Given the description of an element on the screen output the (x, y) to click on. 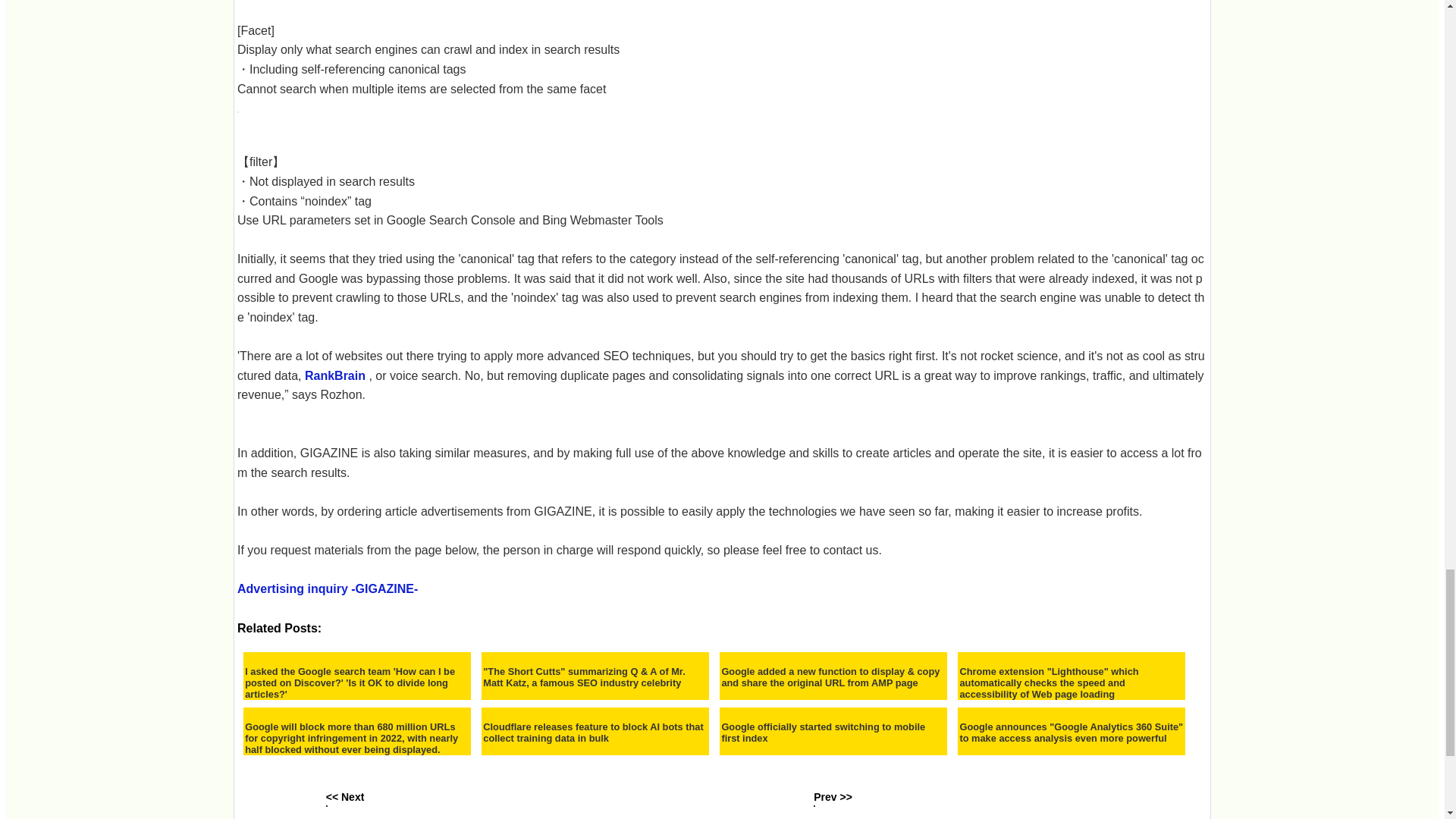
RankBrain (334, 375)
Advertising inquiry -GIGAZINE- (327, 588)
